Given the description of an element on the screen output the (x, y) to click on. 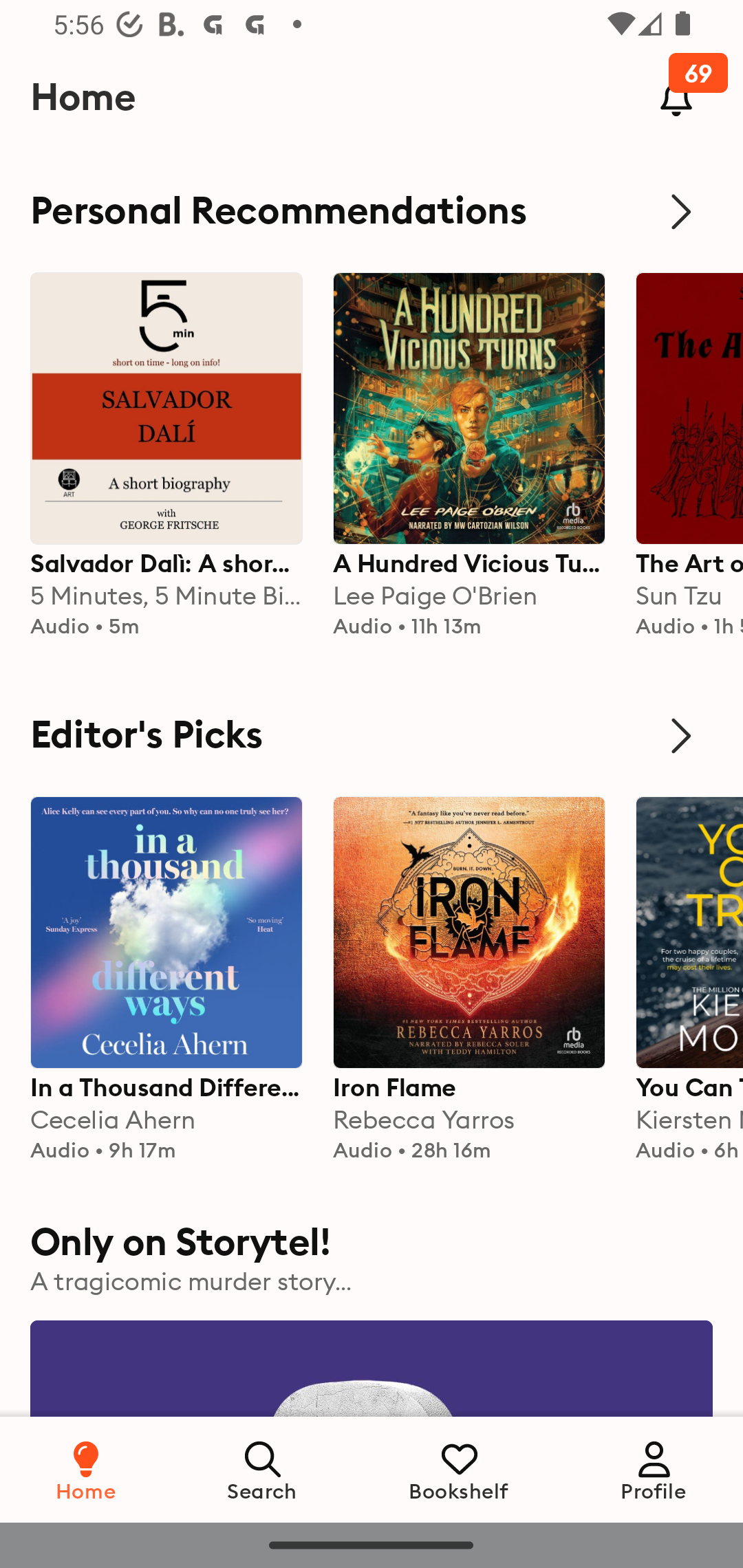
Personal Recommendations (371, 211)
Editor's Picks (371, 735)
Home (85, 1468)
Search (262, 1468)
Bookshelf (458, 1468)
Profile (653, 1468)
